Given the description of an element on the screen output the (x, y) to click on. 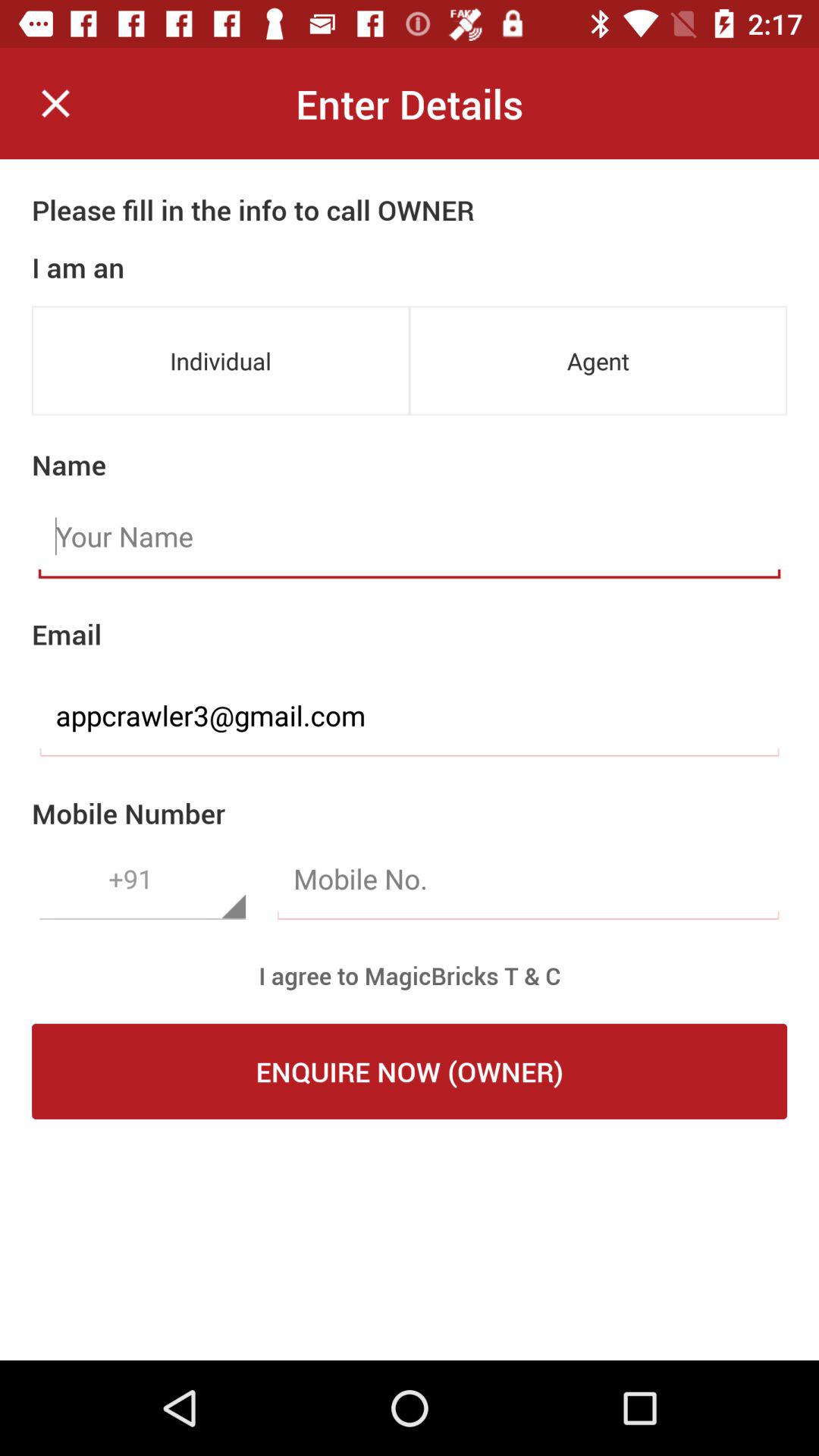
type in name (409, 537)
